Given the description of an element on the screen output the (x, y) to click on. 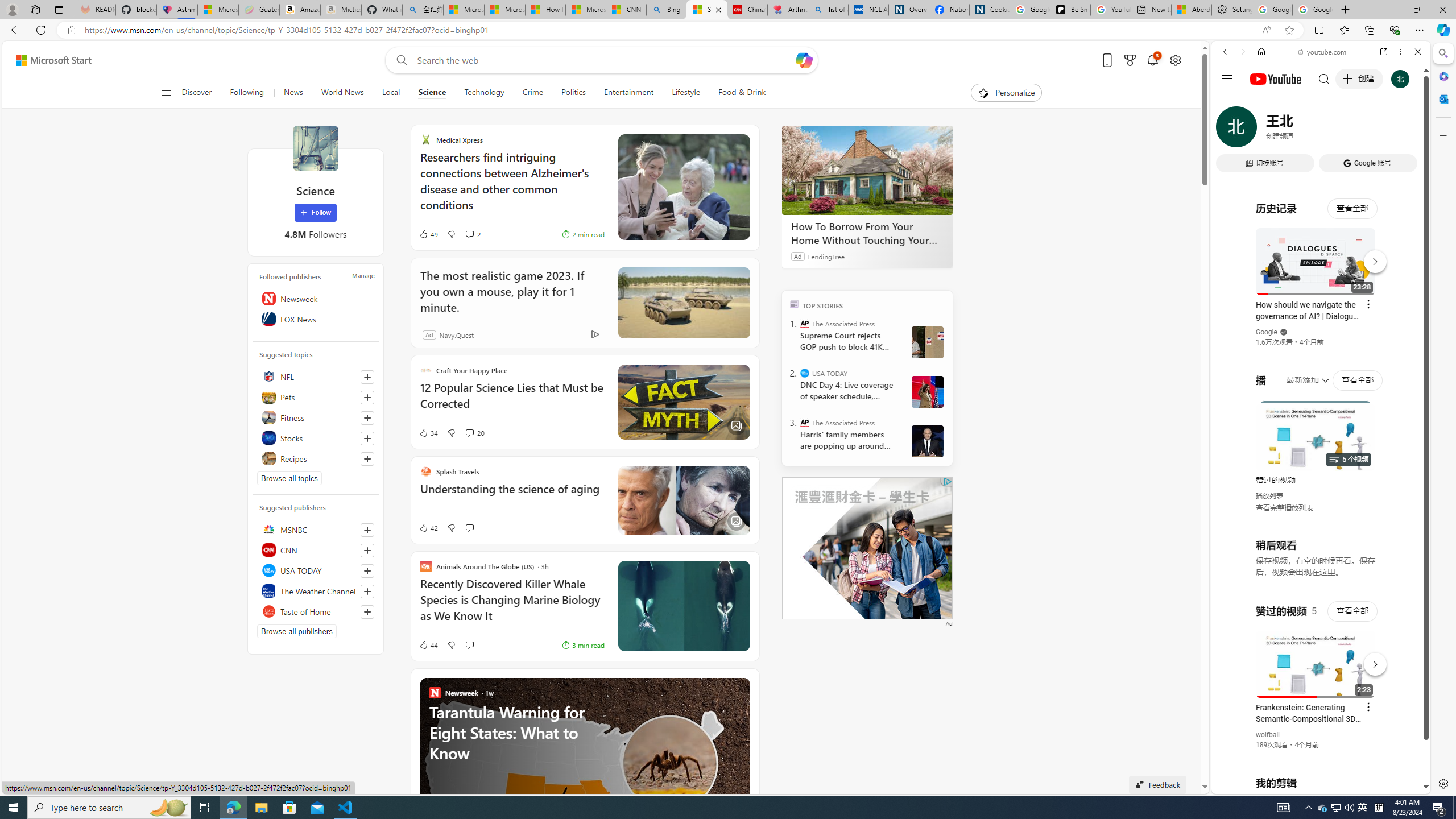
Workspaces (34, 9)
Recipes (315, 458)
Start the conversation (469, 645)
Newsweek (315, 298)
Copilot (Ctrl+Shift+.) (1442, 29)
#you (1320, 253)
Class: button-glyph (165, 92)
How To Borrow From Your Home Without Touching Your Mortgage (866, 169)
Microsoft Start (585, 9)
AutomationID: canvas (866, 548)
Discover (197, 92)
